Given the description of an element on the screen output the (x, y) to click on. 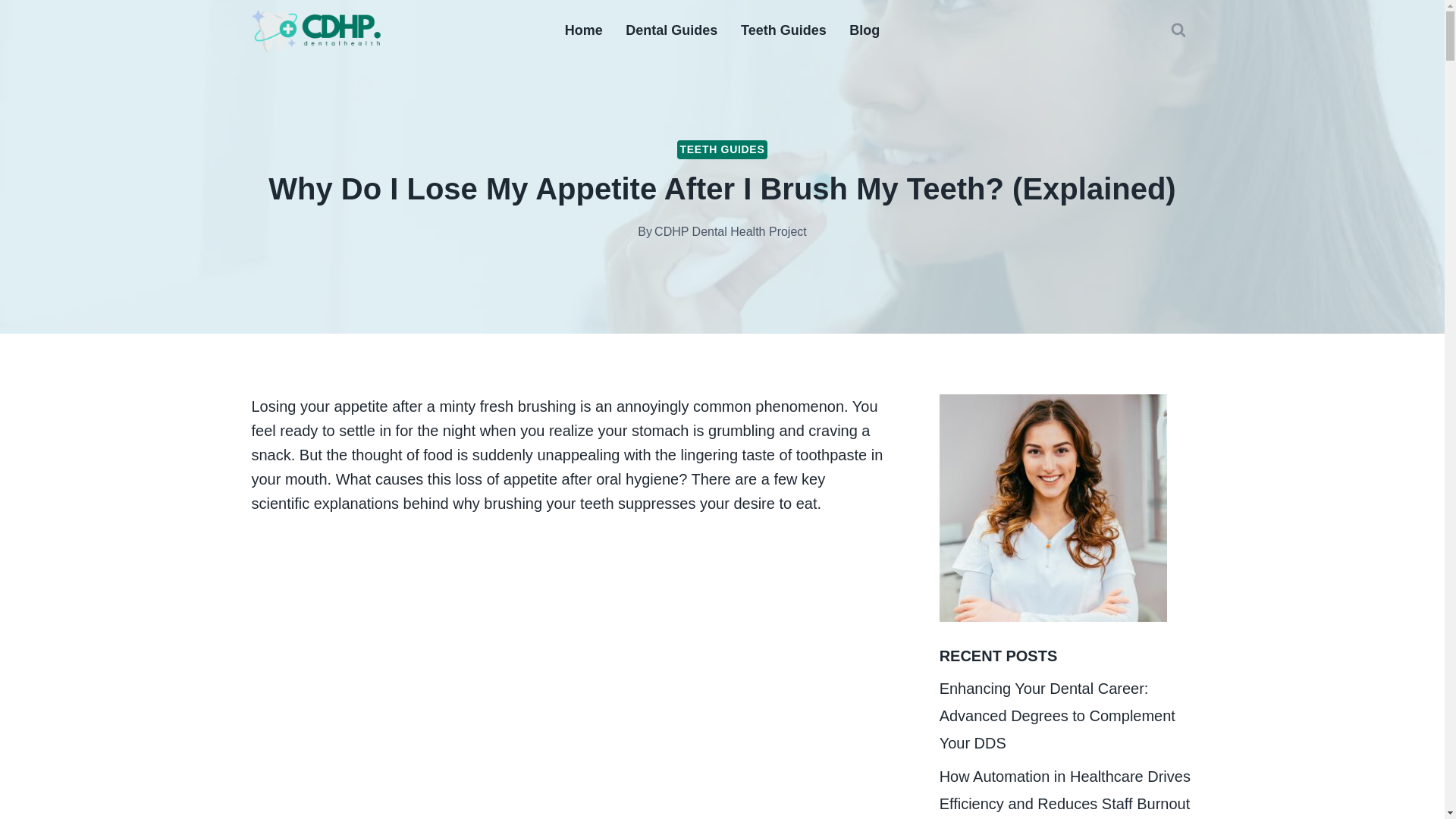
TEETH GUIDES (722, 149)
Blog (864, 30)
Teeth Guides (783, 30)
Home (583, 30)
Dental Guides (671, 30)
